Given the description of an element on the screen output the (x, y) to click on. 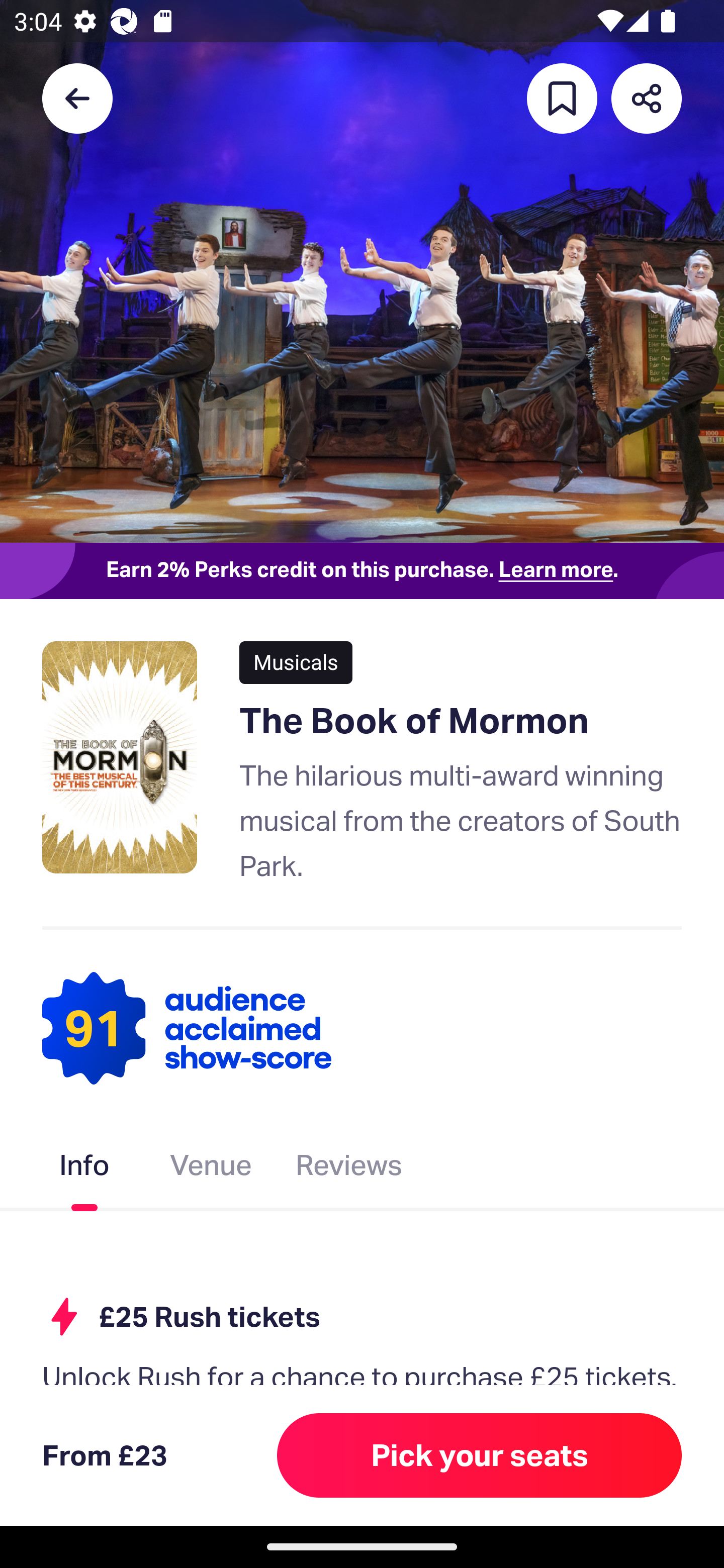
Earn 2% Perks credit on this purchase. Learn more. (362, 570)
Venue (210, 1168)
Reviews (348, 1168)
Pick your seats (479, 1454)
